Given the description of an element on the screen output the (x, y) to click on. 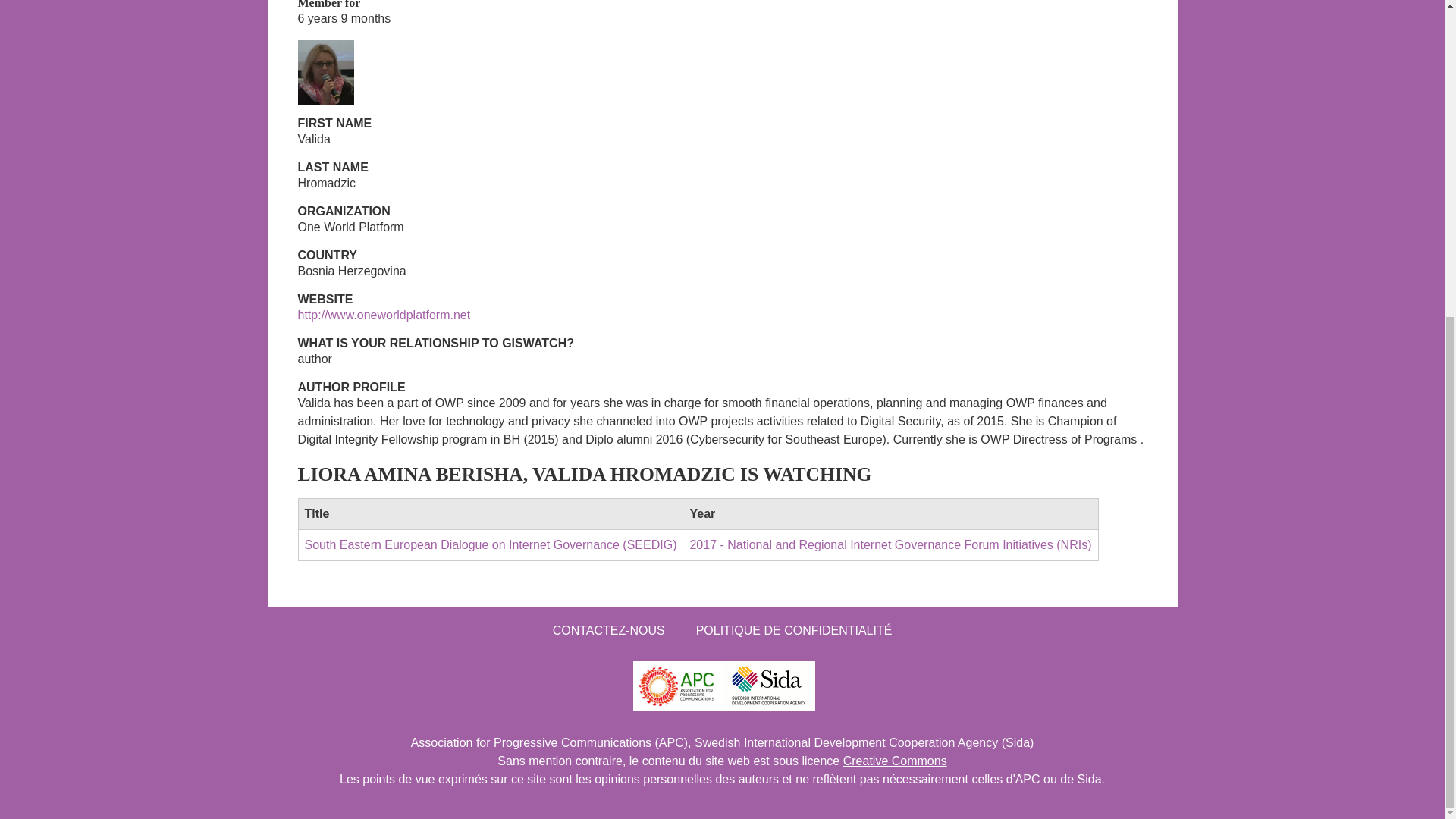
Sida (1017, 742)
APC (671, 742)
CONTACTEZ-NOUS (608, 630)
Creative Commons (895, 760)
